Given the description of an element on the screen output the (x, y) to click on. 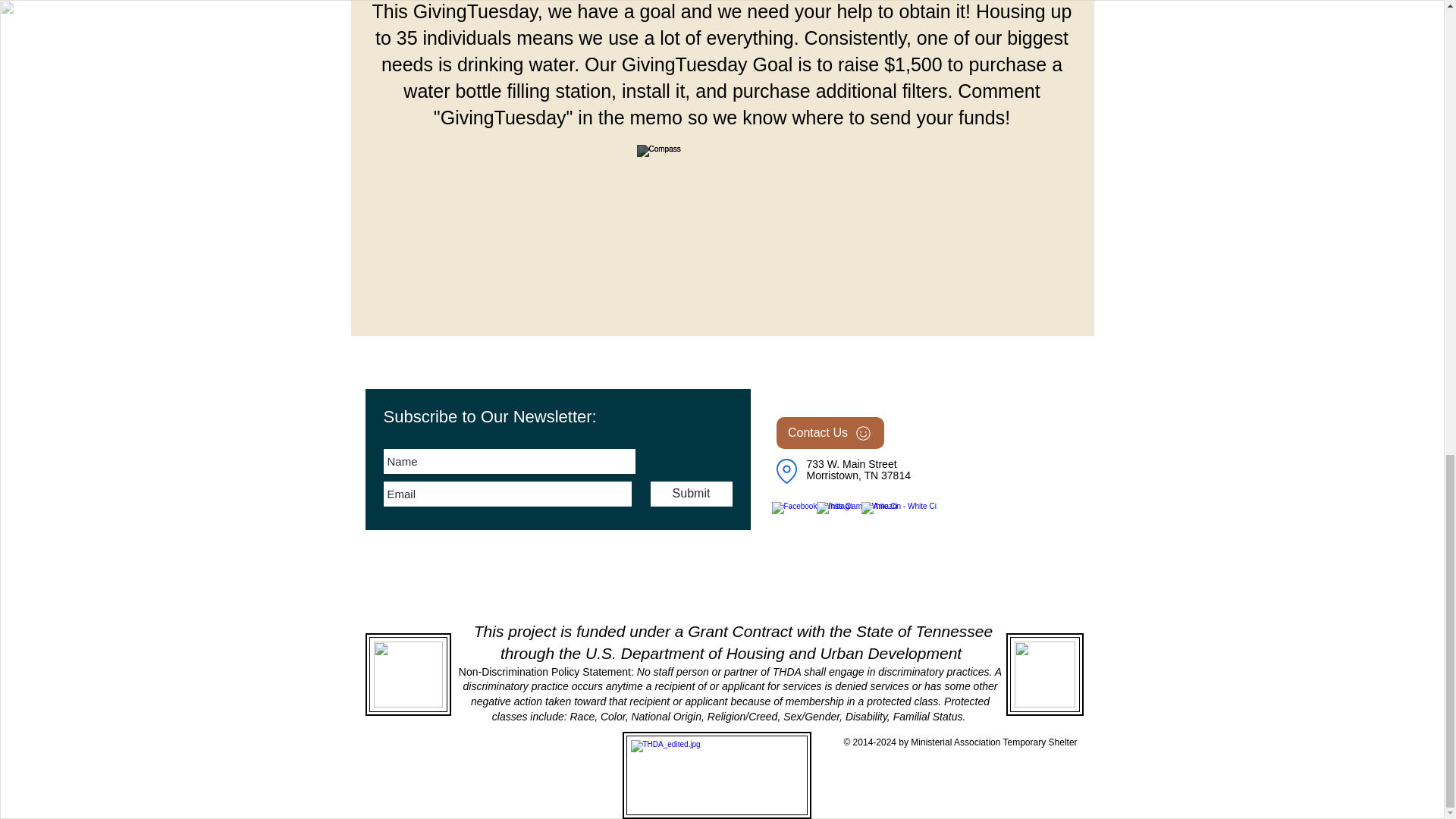
ADA-Logo.png (408, 674)
equal-housing-opportunity-logo.jpg (1044, 674)
Submit (691, 493)
Contact Us (829, 432)
